Given the description of an element on the screen output the (x, y) to click on. 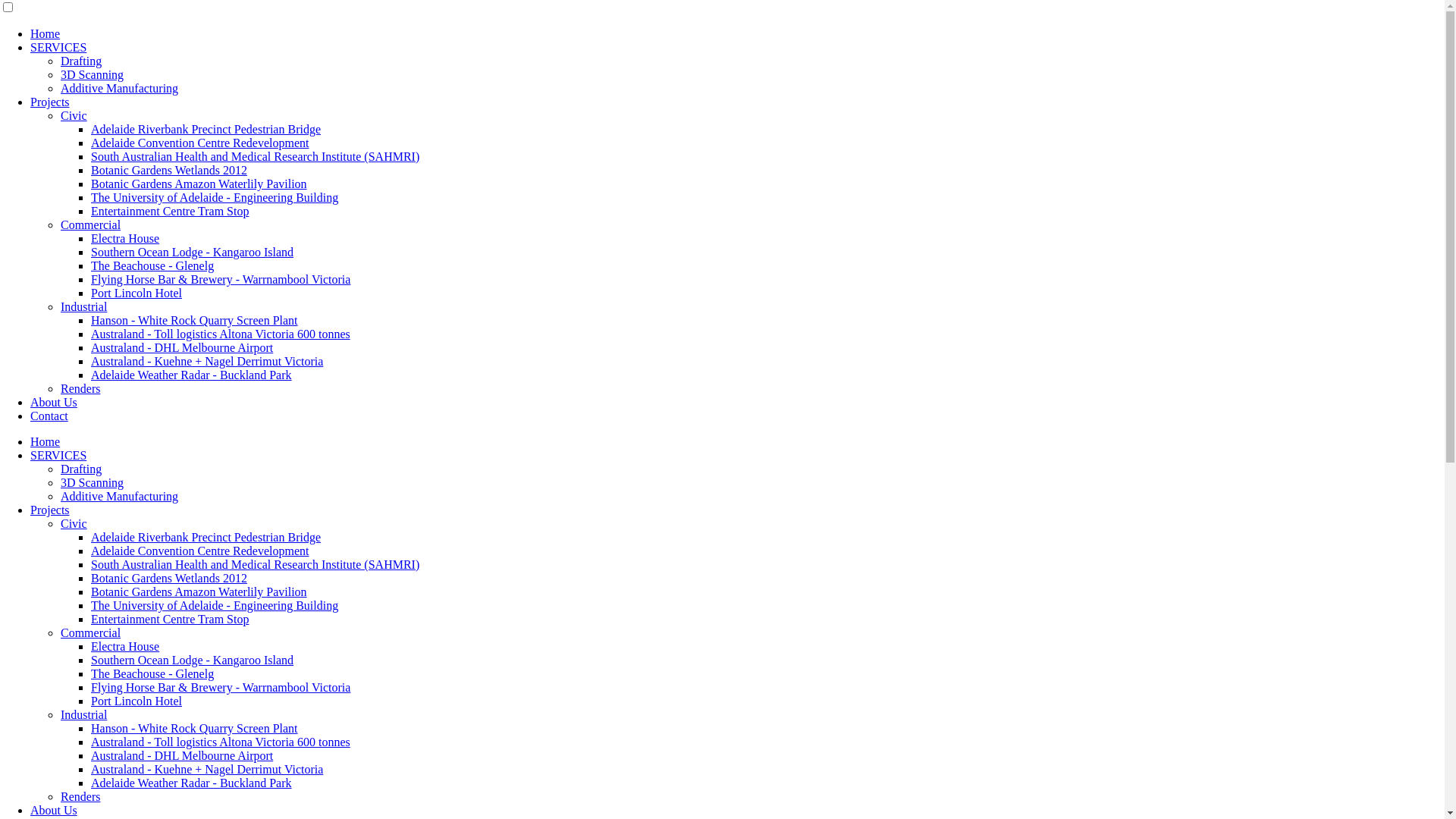
Renders Element type: text (80, 796)
Additive Manufacturing Element type: text (119, 87)
Australand - Toll logistics Altona Victoria 600 tonnes Element type: text (220, 741)
Drafting Element type: text (80, 60)
Projects Element type: text (49, 509)
Commercial Element type: text (90, 224)
The Beachouse - Glenelg Element type: text (152, 673)
Australand - Kuehne + Nagel Derrimut Victoria Element type: text (207, 768)
3D Scanning Element type: text (91, 74)
Industrial Element type: text (83, 306)
Australand - DHL Melbourne Airport Element type: text (182, 347)
Hanson - White Rock Quarry Screen Plant Element type: text (194, 727)
Adelaide Riverbank Precinct Pedestrian Bridge Element type: text (205, 128)
Projects Element type: text (49, 101)
Electra House Element type: text (125, 238)
Australand - Toll logistics Altona Victoria 600 tonnes Element type: text (220, 333)
Renders Element type: text (80, 388)
Botanic Gardens Amazon Waterlily Pavilion Element type: text (199, 183)
Adelaide Convention Centre Redevelopment Element type: text (199, 550)
Civic Element type: text (73, 115)
Southern Ocean Lodge - Kangaroo Island Element type: text (192, 251)
About Us Element type: text (53, 809)
Adelaide Convention Centre Redevelopment Element type: text (199, 142)
About Us Element type: text (53, 401)
Home Element type: text (44, 33)
Botanic Gardens Wetlands 2012 Element type: text (169, 577)
Port Lincoln Hotel Element type: text (136, 292)
Australand - DHL Melbourne Airport Element type: text (182, 755)
The Beachouse - Glenelg Element type: text (152, 265)
Home Element type: text (44, 441)
Port Lincoln Hotel Element type: text (136, 700)
Adelaide Riverbank Precinct Pedestrian Bridge Element type: text (205, 536)
The University of Adelaide - Engineering Building Element type: text (214, 197)
Southern Ocean Lodge - Kangaroo Island Element type: text (192, 659)
Flying Horse Bar & Brewery - Warrnambool Victoria Element type: text (220, 279)
Adelaide Weather Radar - Buckland Park Element type: text (191, 782)
SERVICES Element type: text (58, 454)
Entertainment Centre Tram Stop Element type: text (169, 210)
Contact Element type: text (49, 415)
The University of Adelaide - Engineering Building Element type: text (214, 605)
3D Scanning Element type: text (91, 482)
Hanson - White Rock Quarry Screen Plant Element type: text (194, 319)
Flying Horse Bar & Brewery - Warrnambool Victoria Element type: text (220, 686)
Adelaide Weather Radar - Buckland Park Element type: text (191, 374)
Drafting Element type: text (80, 468)
Entertainment Centre Tram Stop Element type: text (169, 618)
Botanic Gardens Amazon Waterlily Pavilion Element type: text (199, 591)
Additive Manufacturing Element type: text (119, 495)
SERVICES Element type: text (58, 46)
Civic Element type: text (73, 523)
Australand - Kuehne + Nagel Derrimut Victoria Element type: text (207, 360)
Electra House Element type: text (125, 646)
Industrial Element type: text (83, 714)
Commercial Element type: text (90, 632)
Botanic Gardens Wetlands 2012 Element type: text (169, 169)
